Given the description of an element on the screen output the (x, y) to click on. 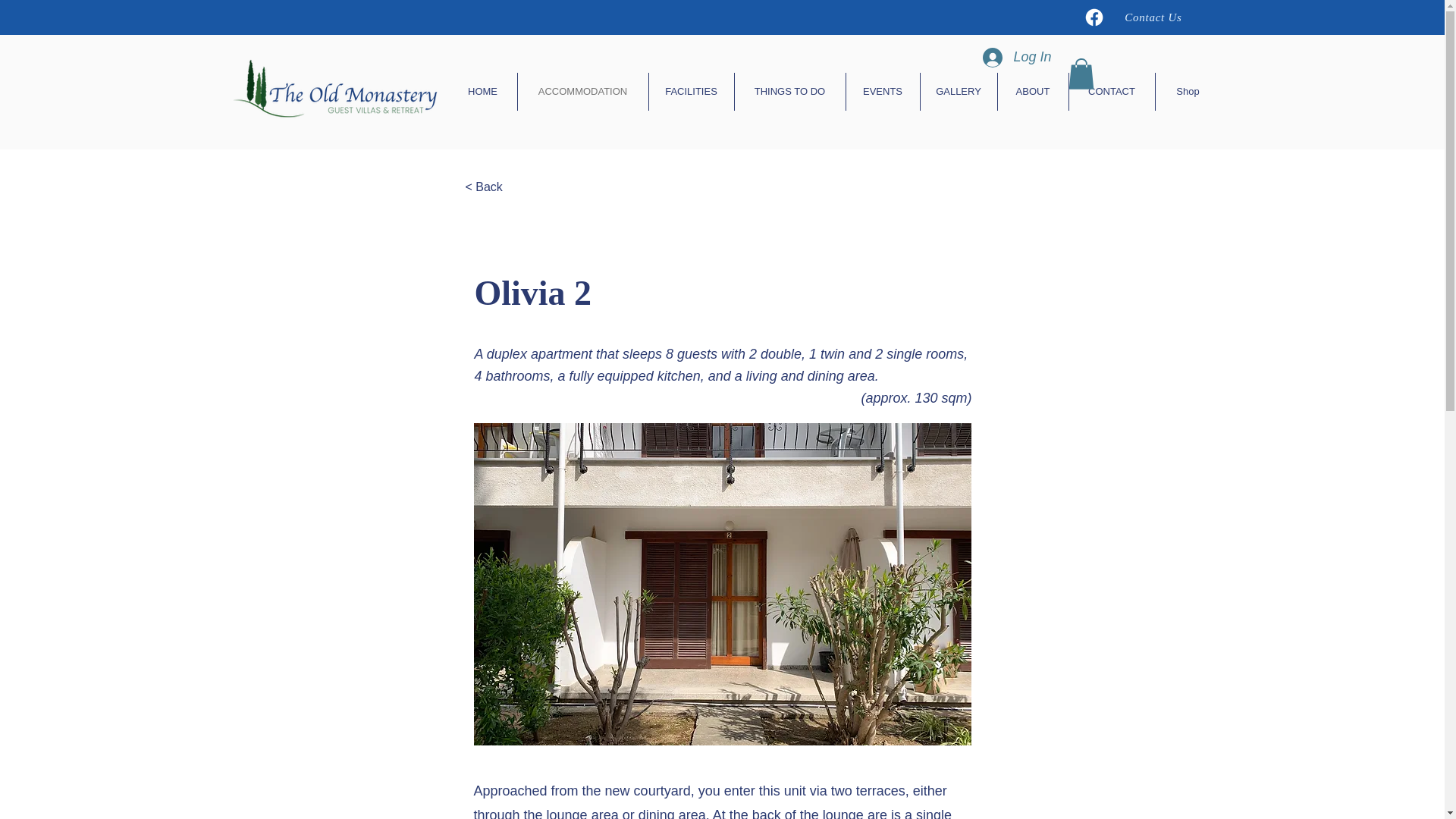
LOGO 1-01.png (335, 90)
THINGS TO DO (788, 91)
ABOUT (1032, 91)
ACCOMMODATION (581, 91)
HOME (482, 91)
EVENTS (882, 91)
GALLERY (958, 91)
FACILITIES (691, 91)
Contact Us (1152, 17)
Log In (1016, 57)
CONTACT (1111, 91)
Shop (1188, 91)
